Given the description of an element on the screen output the (x, y) to click on. 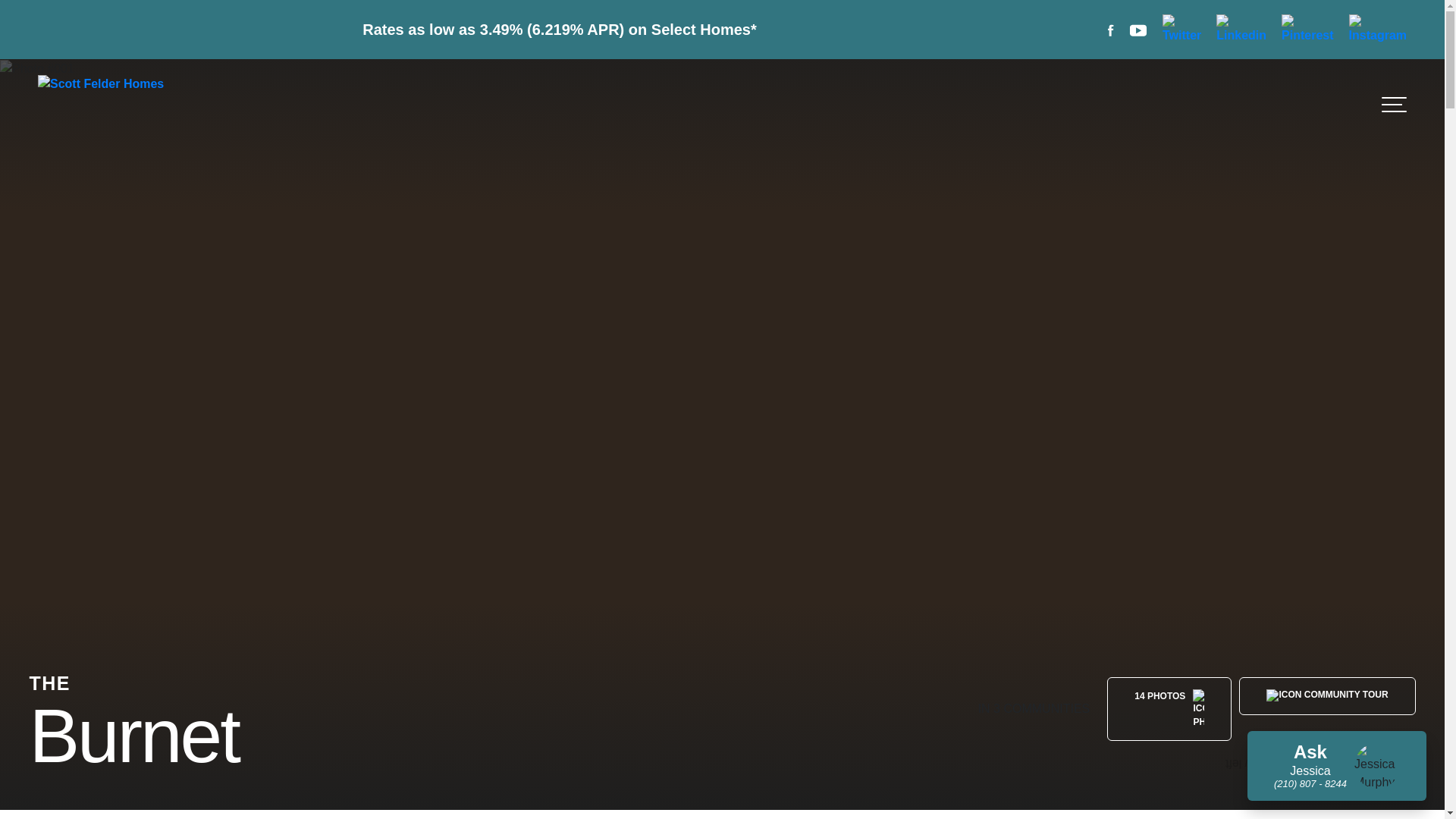
Search (1345, 103)
Toggle Menu (1393, 104)
IN 3 COMMUNITIES (1034, 709)
